Given the description of an element on the screen output the (x, y) to click on. 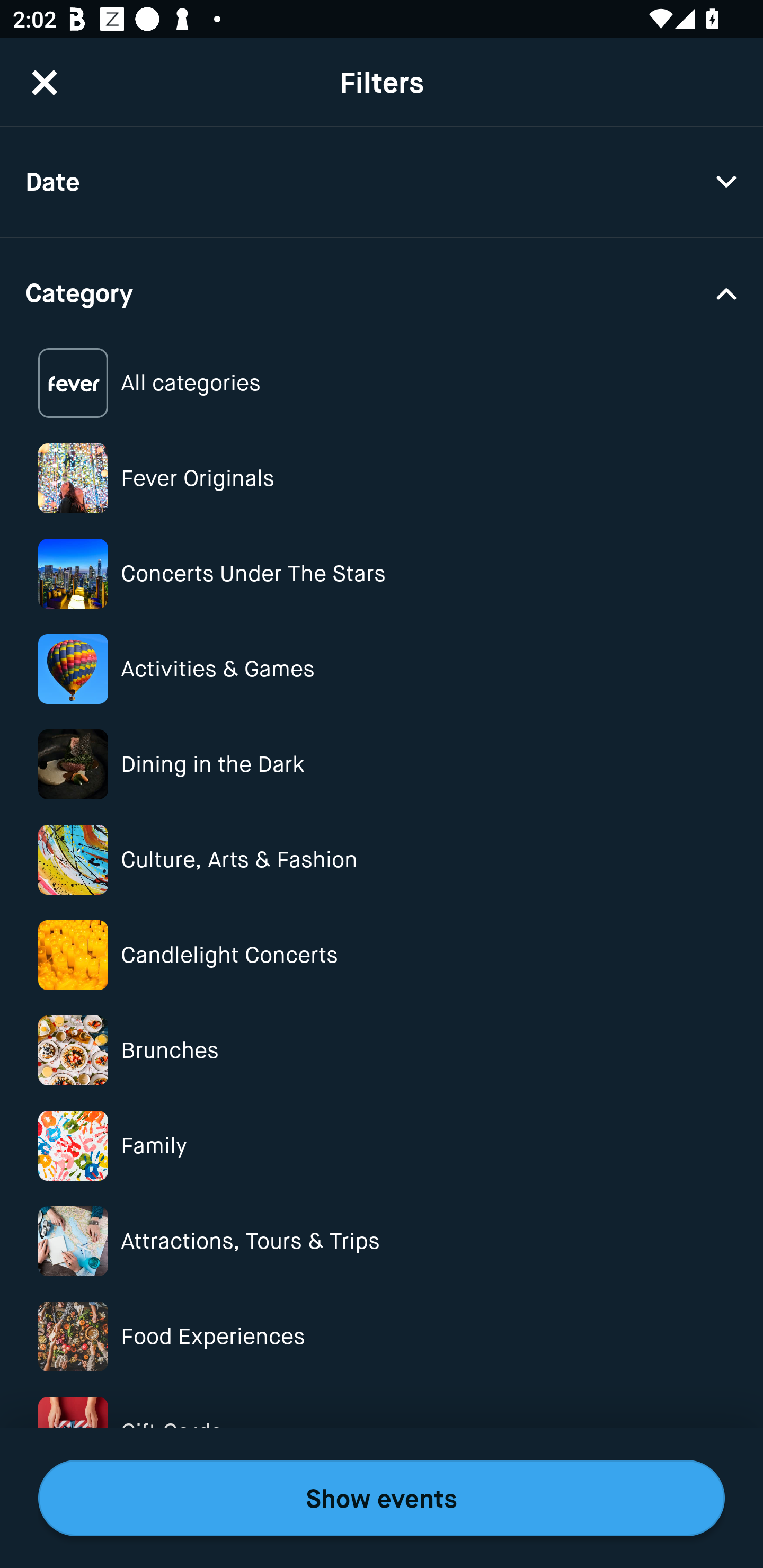
CloseButton (44, 82)
Date Drop Down Arrow (381, 182)
Category Drop Down Arrow (381, 291)
Category Image All categories (381, 382)
Category Image Fever Originals (381, 477)
Category Image Concerts Under The Stars (381, 573)
Category Image Activities & Games (381, 668)
Category Image Dining in the Dark (381, 763)
Category Image Culture, Arts & Fashion (381, 859)
Category Image Candlelight Concerts (381, 954)
Category Image Brunches (381, 1050)
Category Image Family (381, 1145)
Category Image Attractions, Tours & Trips (381, 1240)
Category Image Food Experiences (381, 1336)
Show events (381, 1497)
